Given the description of an element on the screen output the (x, y) to click on. 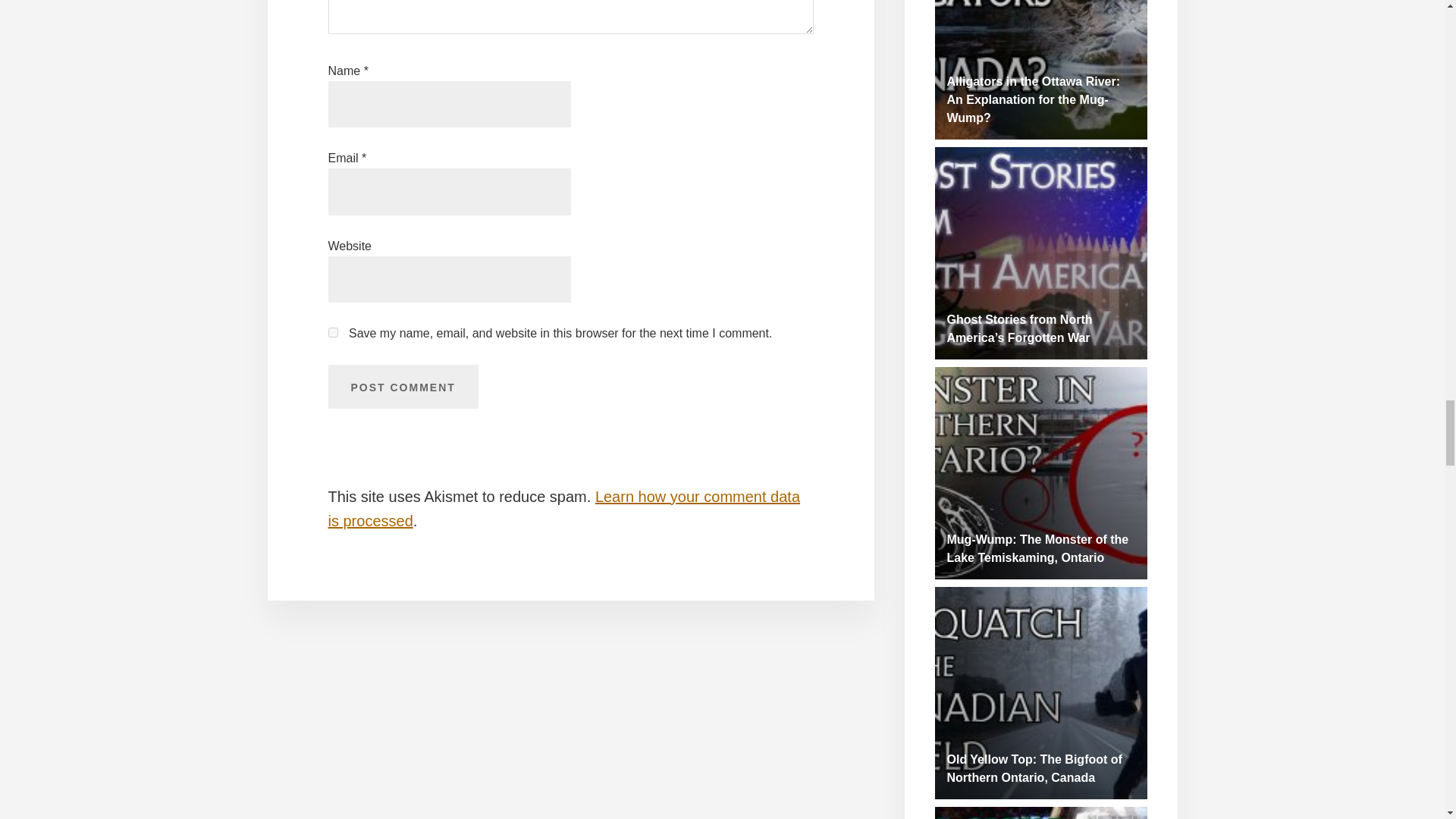
yes (332, 332)
Post Comment (402, 386)
